Given the description of an element on the screen output the (x, y) to click on. 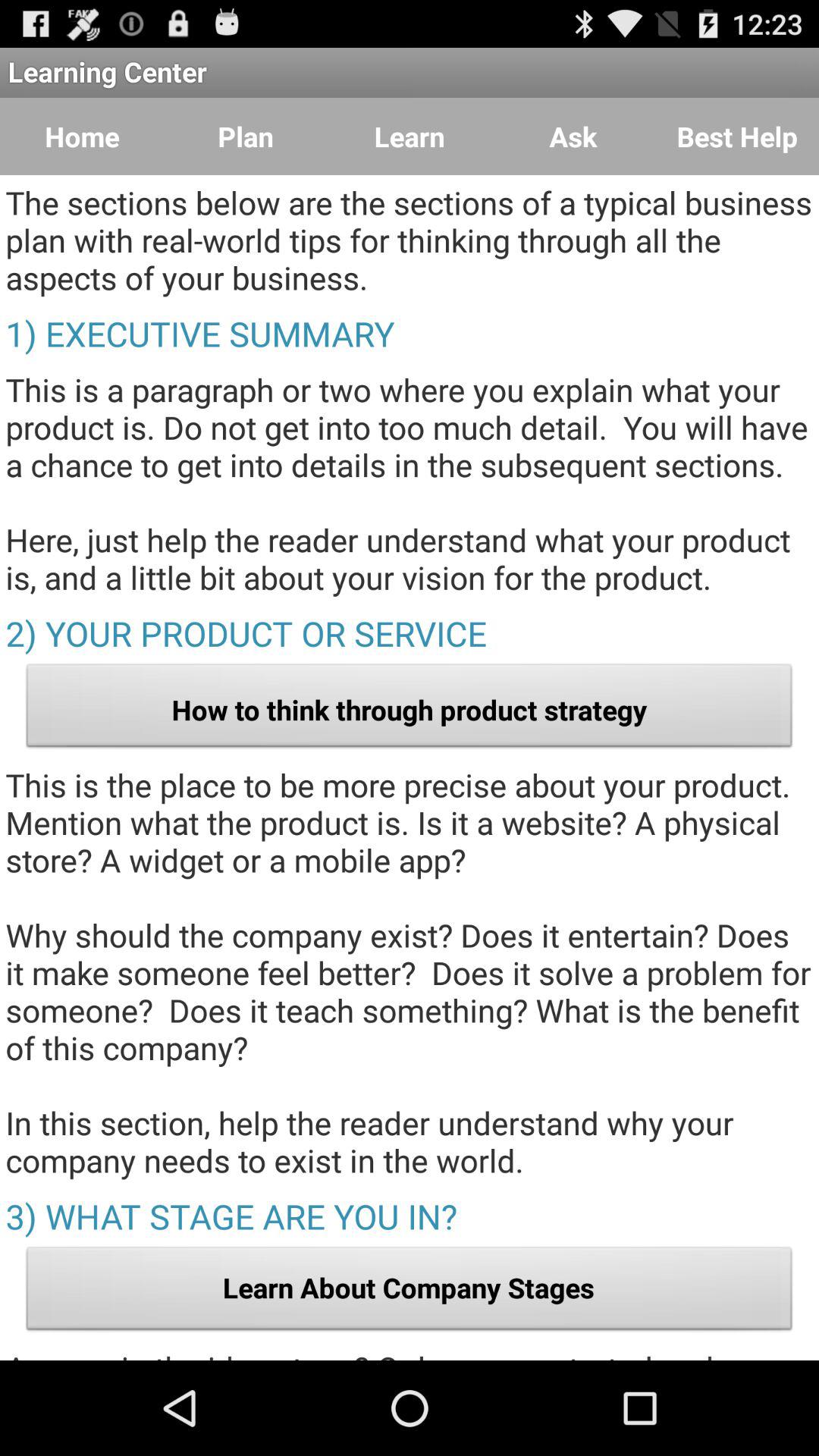
select best help item (737, 136)
